Given the description of an element on the screen output the (x, y) to click on. 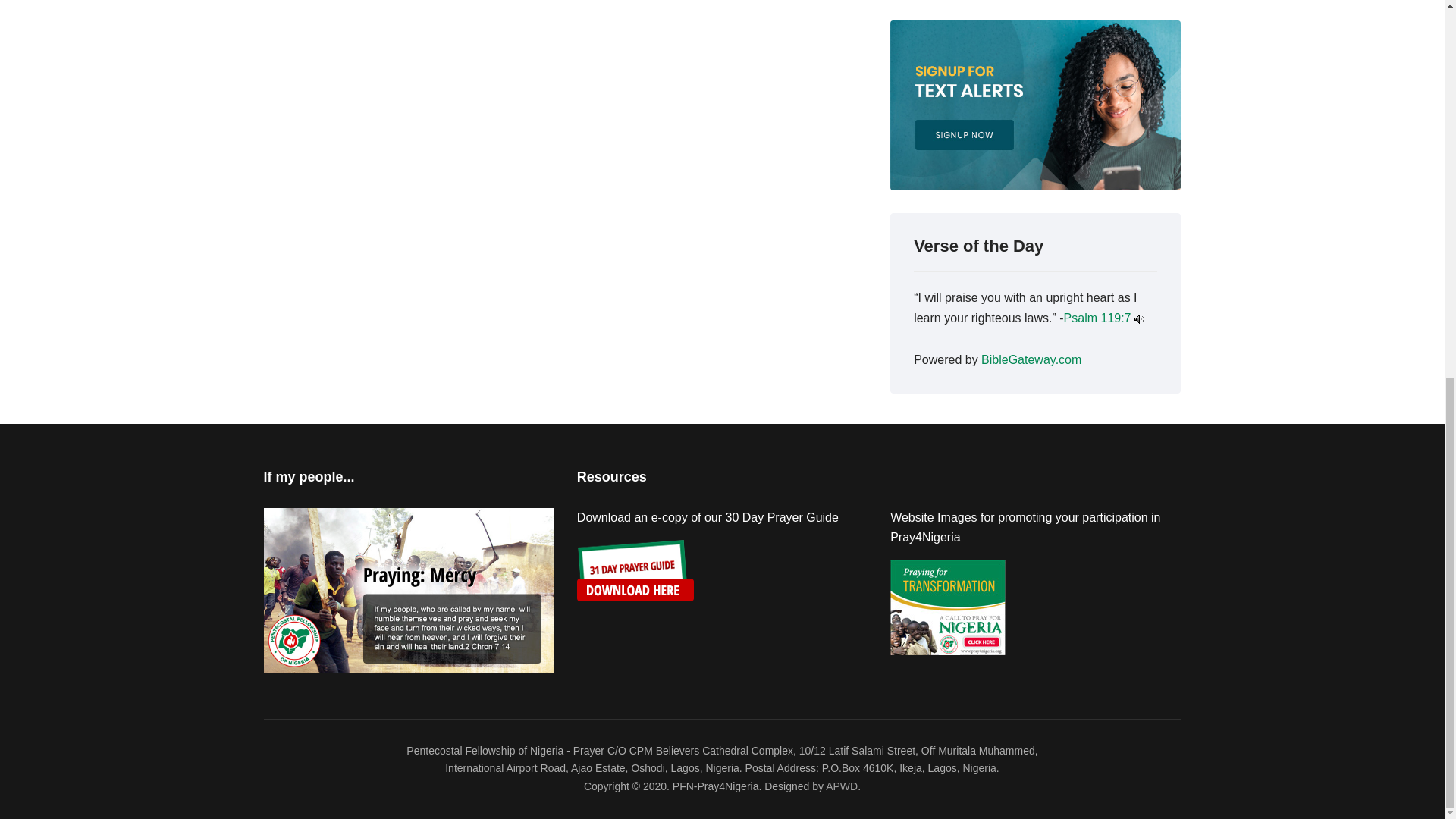
Listen to chapter (1139, 318)
